Given the description of an element on the screen output the (x, y) to click on. 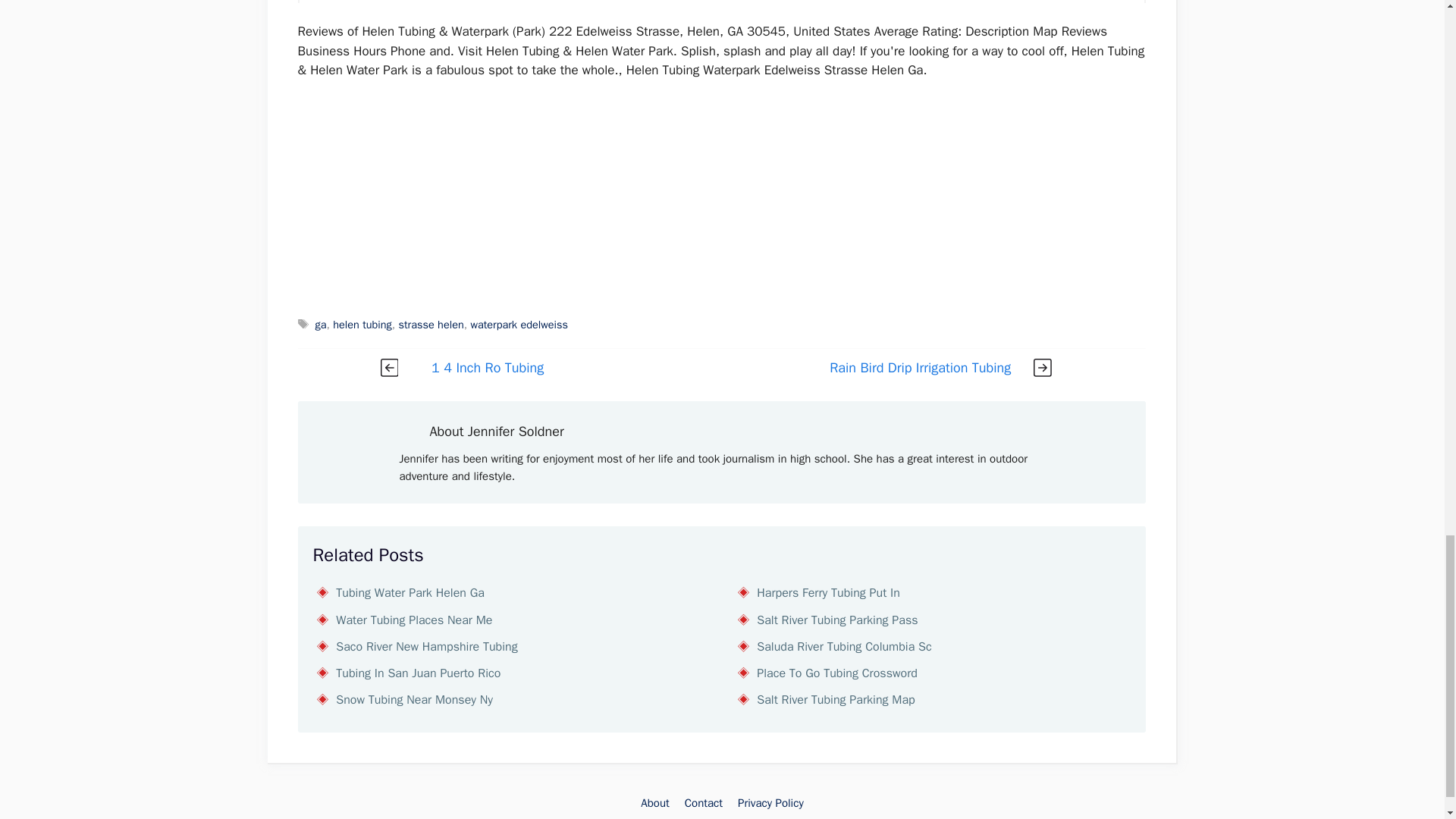
Water Tubing Places Near Me (414, 620)
Snow Tubing Near Monsey Ny (414, 699)
Saluda River Tubing Columbia Sc (844, 646)
waterpark edelweiss (518, 324)
Salt River Tubing Parking Pass (837, 620)
Rain Bird Drip Irrigation Tubing (919, 367)
Salt River Tubing Parking Map (835, 699)
1 4 Inch Ro Tubing (486, 367)
strasse helen (431, 324)
Privacy Policy (770, 802)
ga (320, 324)
About (654, 802)
helen tubing (362, 324)
Tubing In San Juan Puerto Rico (418, 672)
Saco River New Hampshire Tubing (426, 646)
